Given the description of an element on the screen output the (x, y) to click on. 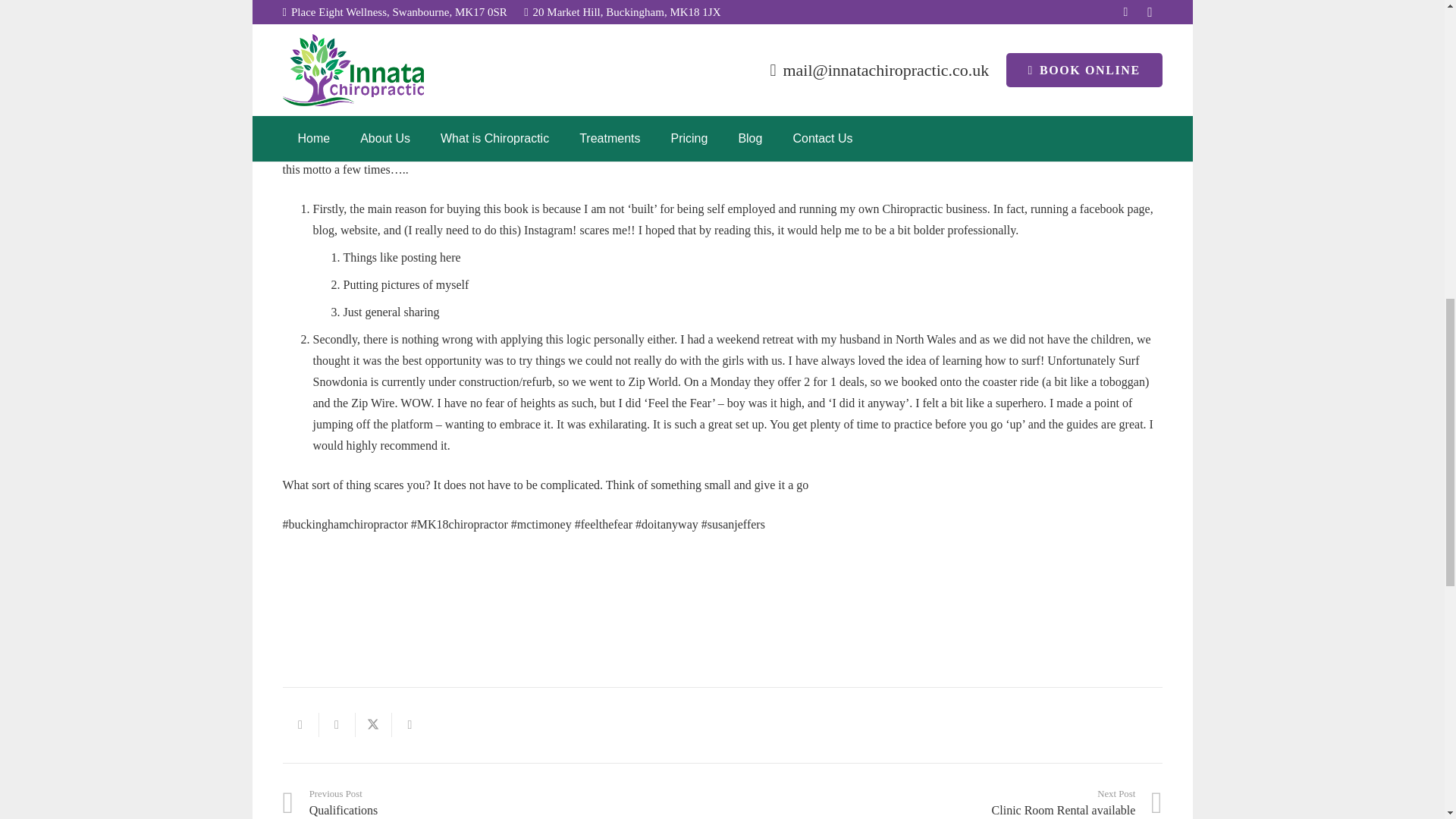
Email this (502, 803)
Tweet this (300, 724)
Share this (941, 803)
Share this (373, 724)
Clinic Room Rental available (336, 724)
Back to top (409, 724)
Qualifications (941, 803)
